Given the description of an element on the screen output the (x, y) to click on. 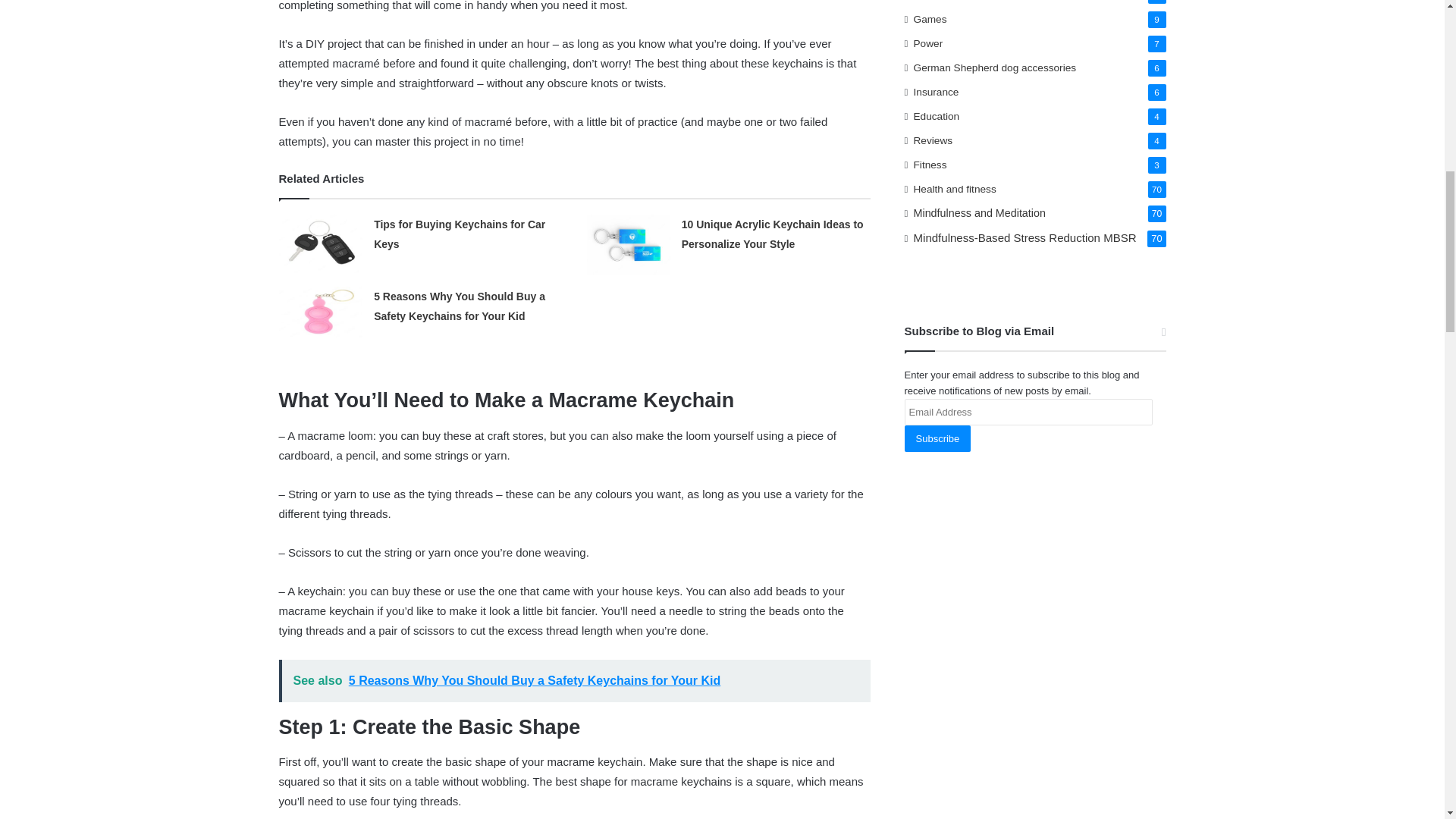
5 Reasons Why You Should Buy a Safety Keychains for Your Kid (459, 306)
10 Unique Acrylic Keychain Ideas to Personalize Your Style (772, 234)
Tips for Buying Keychains for Car Keys (459, 234)
